Given the description of an element on the screen output the (x, y) to click on. 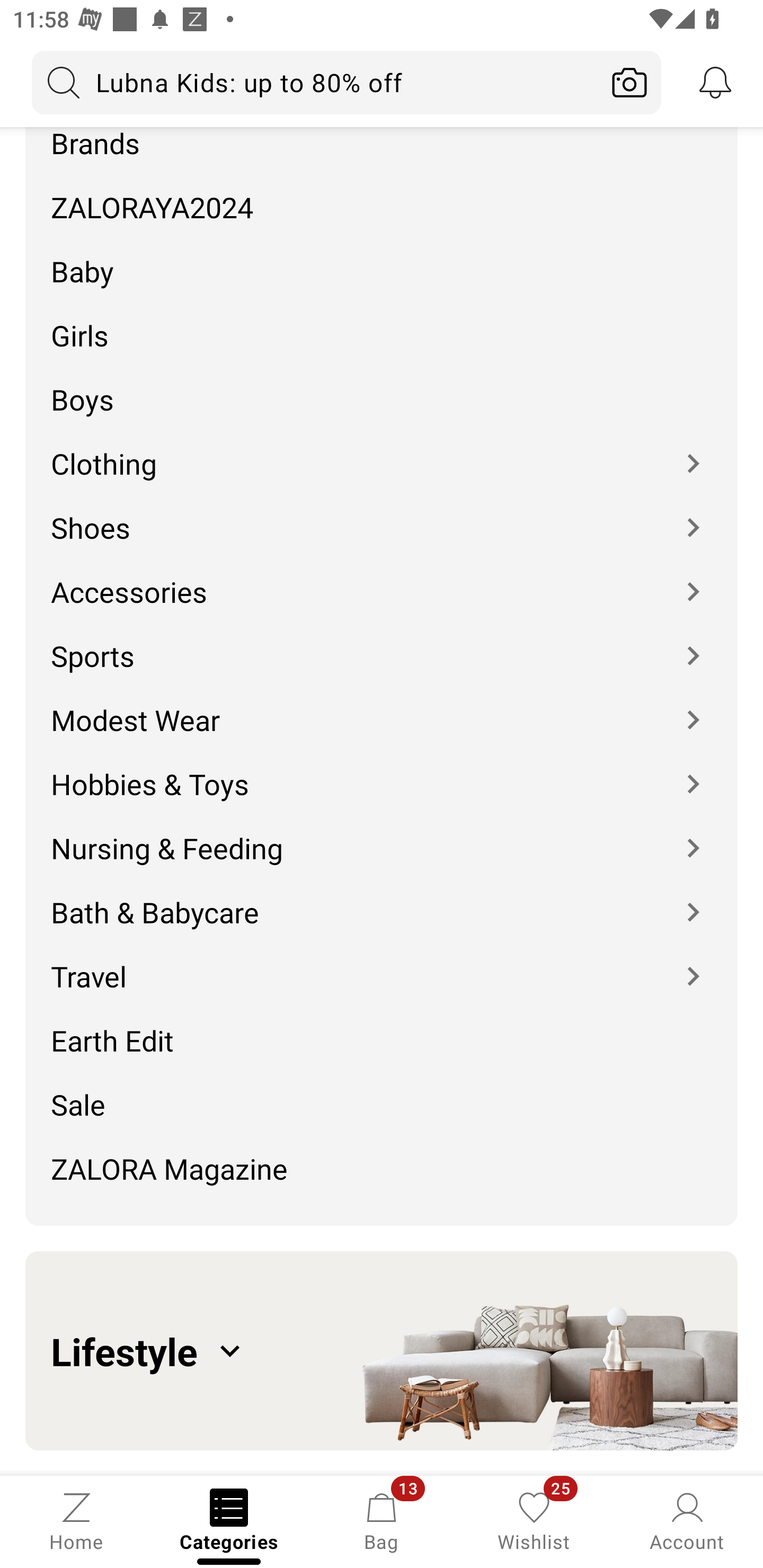
Lubna Kids: up to 80% off (314, 82)
Brands (381, 144)
ZALORAYA2024 (381, 193)
Baby (381, 257)
Girls (381, 322)
Boys (381, 386)
Clothing (381, 450)
Shoes (381, 514)
Accessories (381, 579)
Sports (381, 642)
Modest Wear (381, 706)
Hobbies & Toys (381, 770)
Nursing & Feeding (381, 834)
Bath & Babycare (381, 899)
Travel (381, 963)
Earth Edit (381, 1027)
Sale (381, 1091)
ZALORA Magazine (381, 1175)
Lifestyle (381, 1350)
Home (76, 1519)
Bag, 13 new notifications Bag (381, 1519)
Wishlist, 25 new notifications Wishlist (533, 1519)
Account (686, 1519)
